Given the description of an element on the screen output the (x, y) to click on. 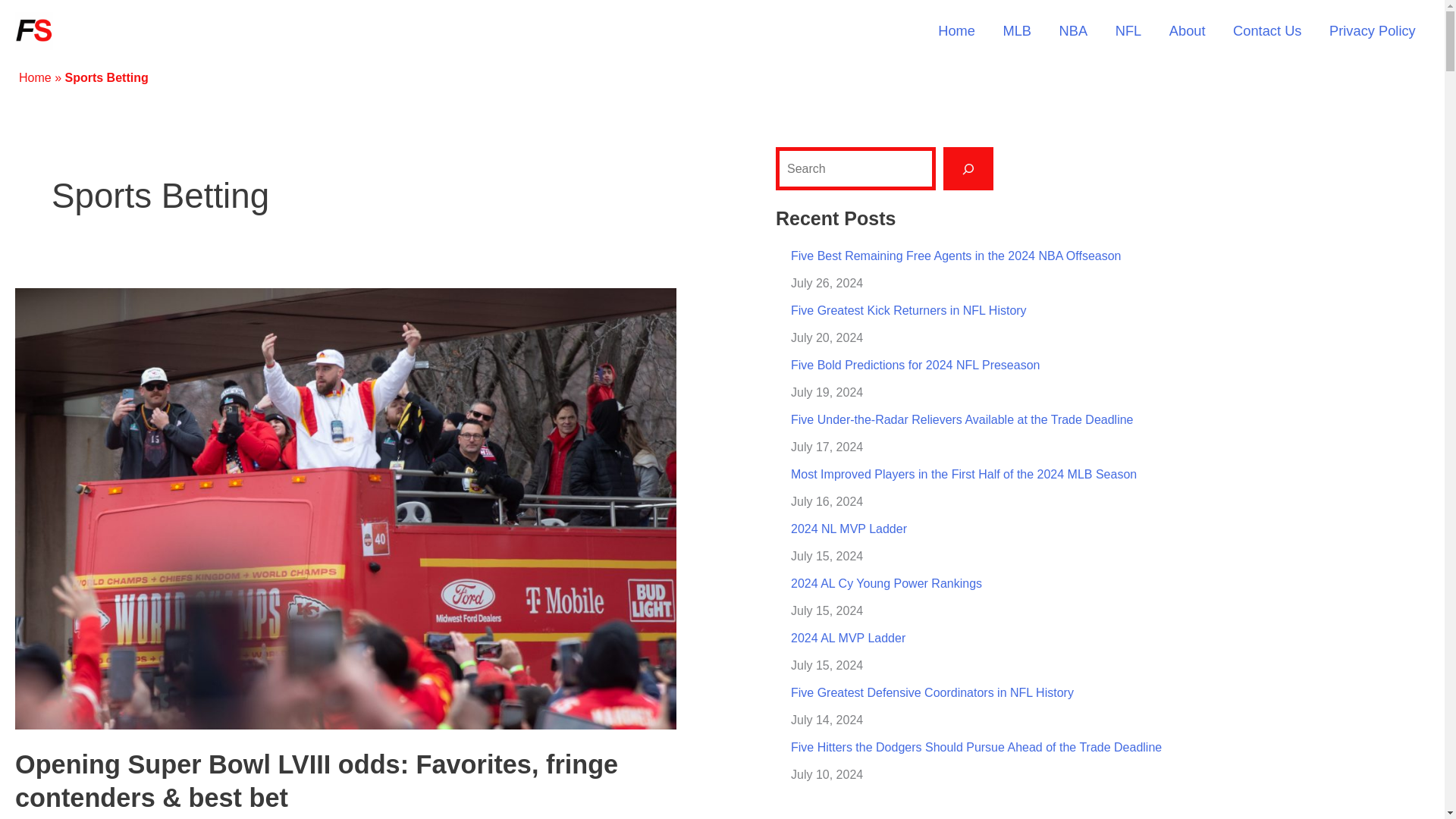
Contact Us (1268, 31)
NFL (1127, 31)
MLB (1016, 31)
Home (956, 31)
NBA (1072, 31)
Privacy Policy (1372, 31)
Home (34, 77)
About (1188, 31)
